Given the description of an element on the screen output the (x, y) to click on. 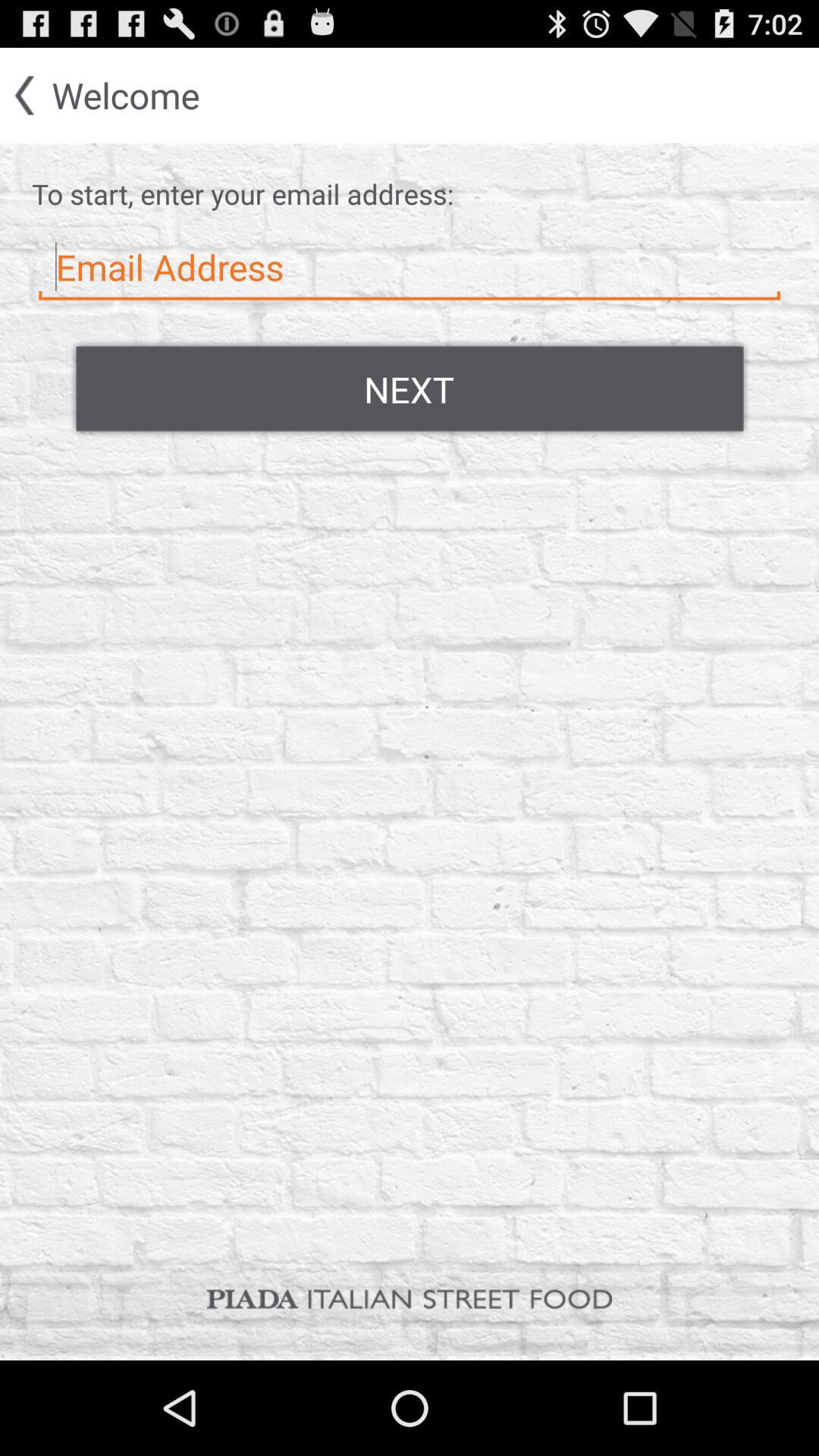
enter email address (409, 267)
